Given the description of an element on the screen output the (x, y) to click on. 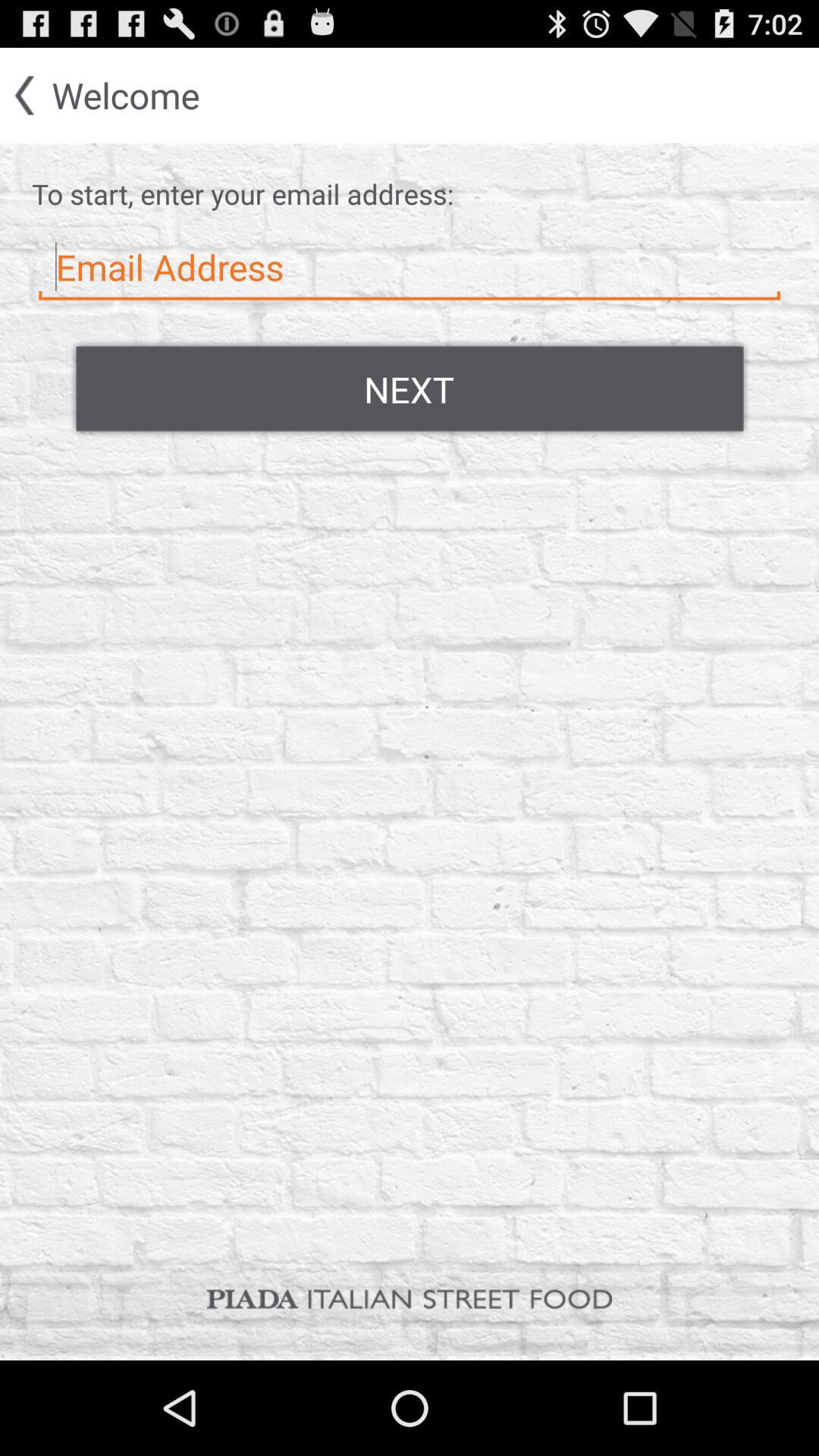
enter email address (409, 267)
